Given the description of an element on the screen output the (x, y) to click on. 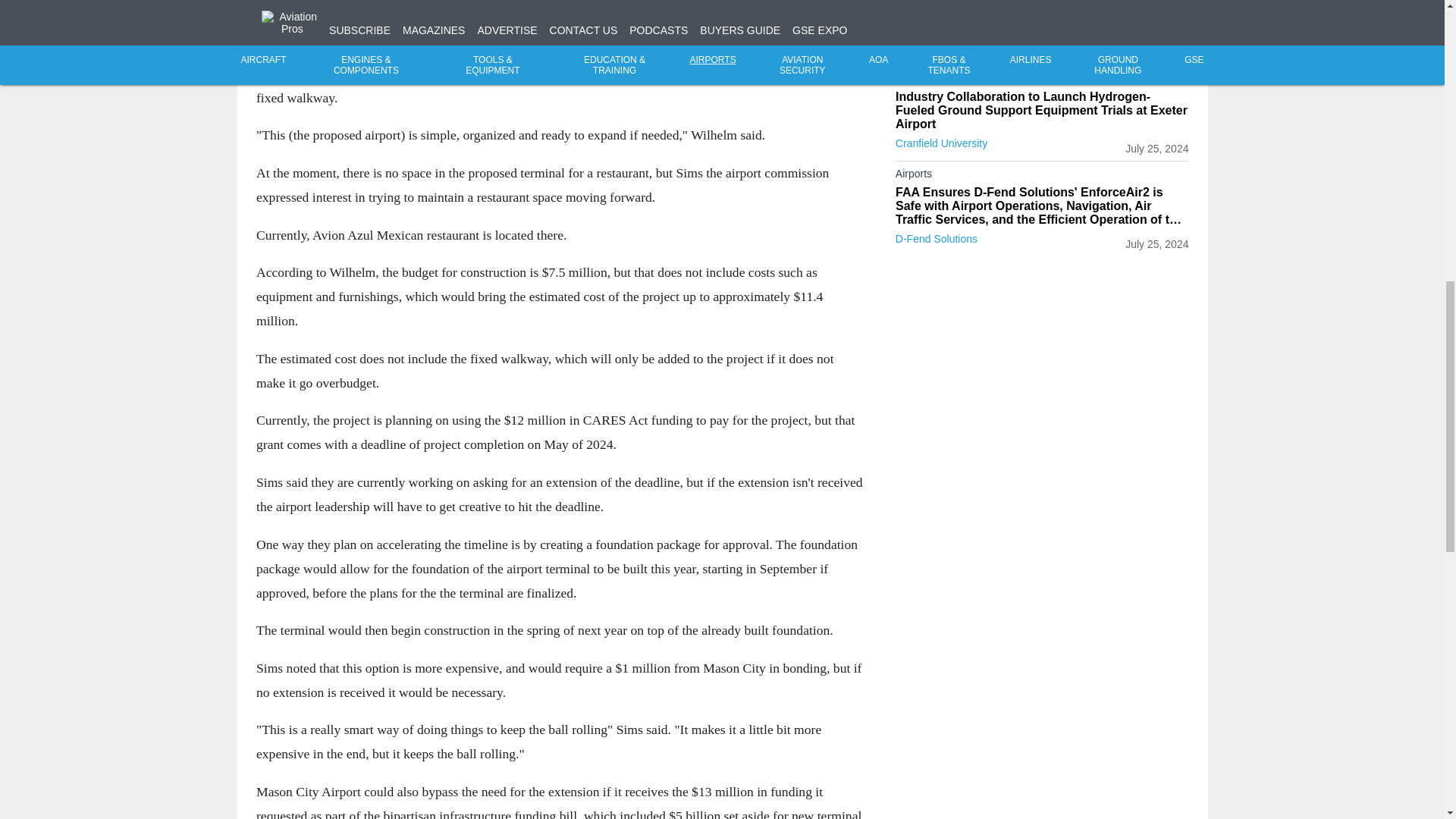
Lilium (909, 47)
GSE (1042, 81)
